Given the description of an element on the screen output the (x, y) to click on. 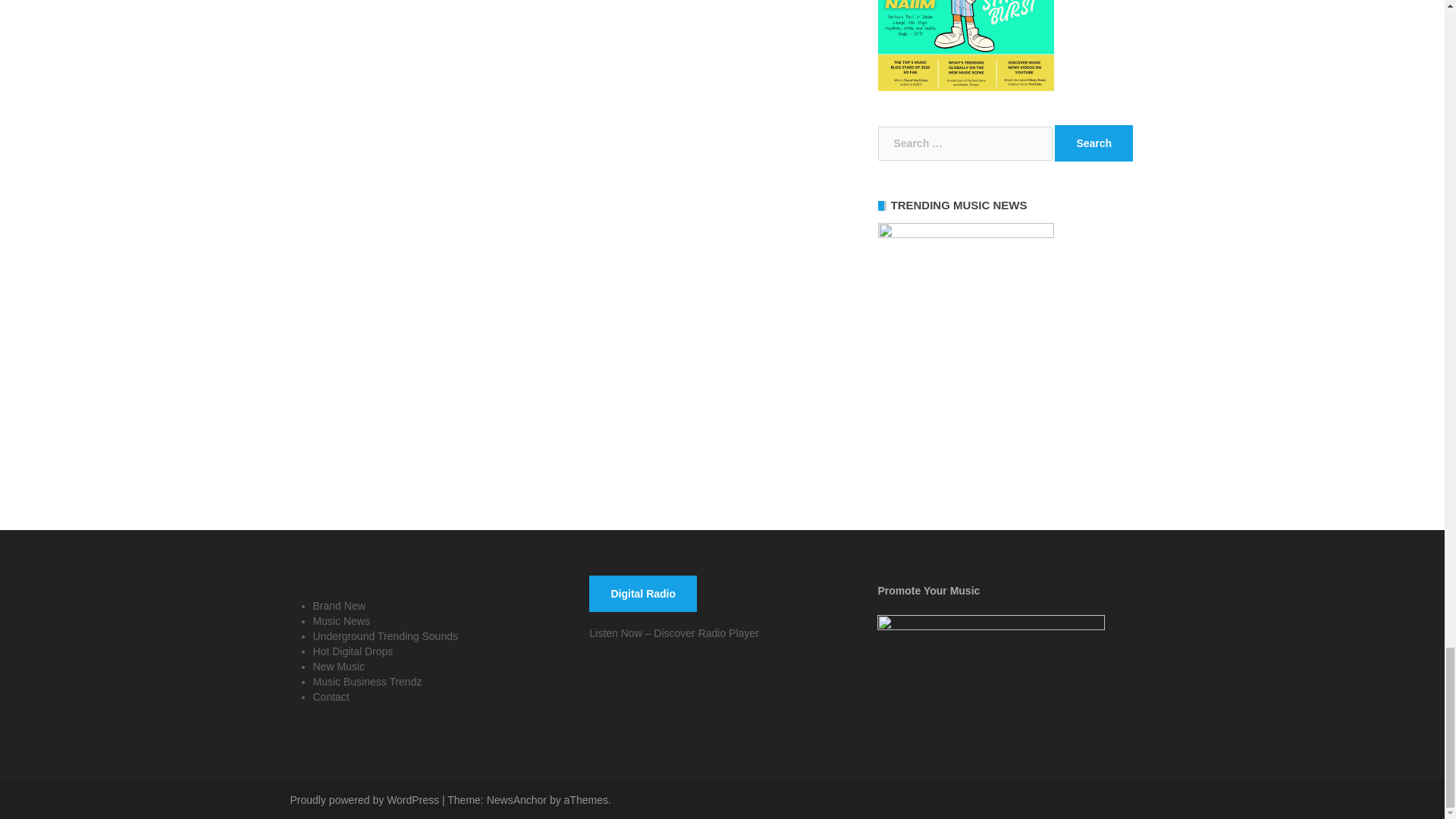
Search (1093, 143)
Digital Radio (643, 593)
Search (1093, 143)
